Given the description of an element on the screen output the (x, y) to click on. 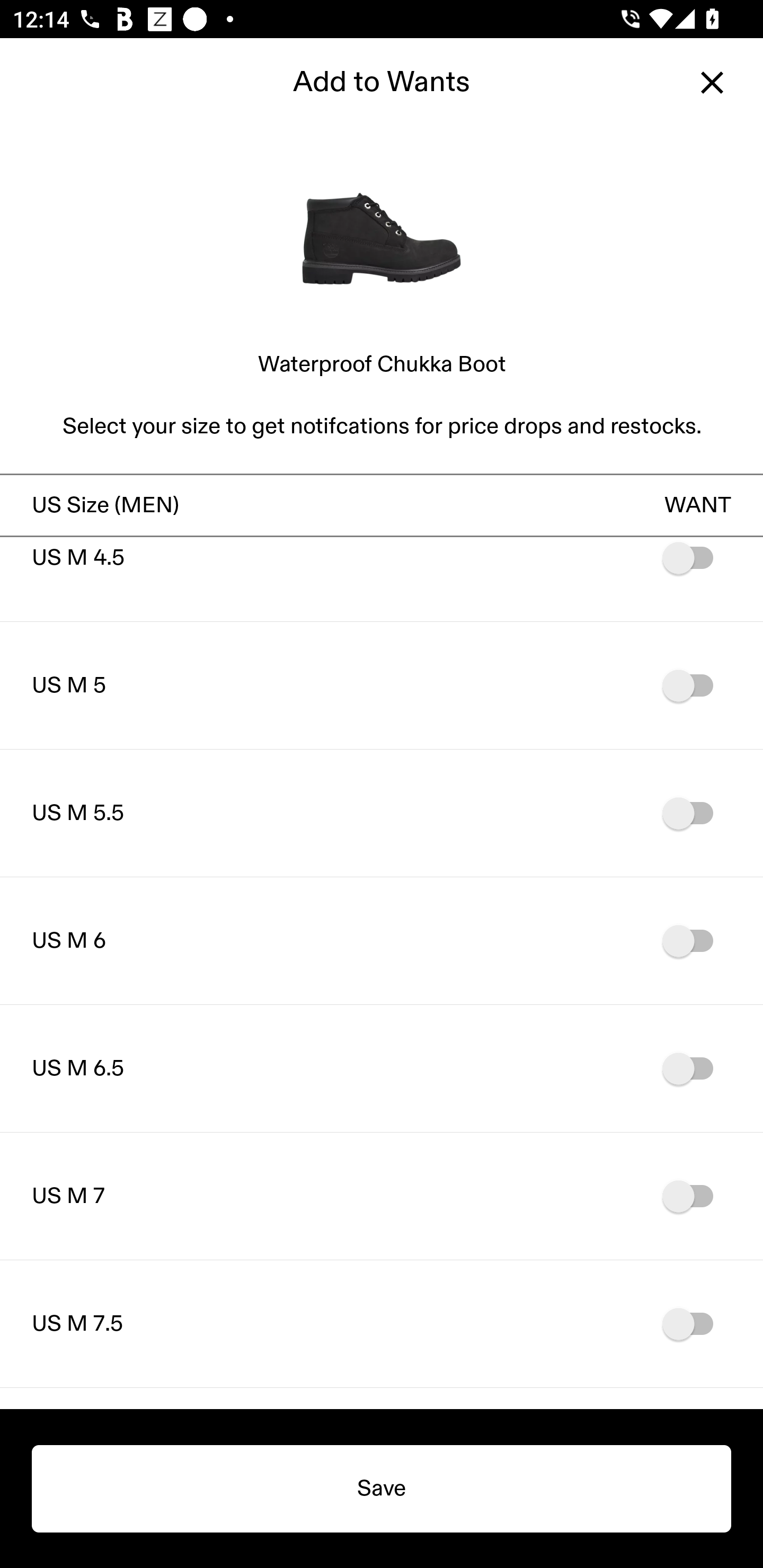
Save (381, 1488)
